Given the description of an element on the screen output the (x, y) to click on. 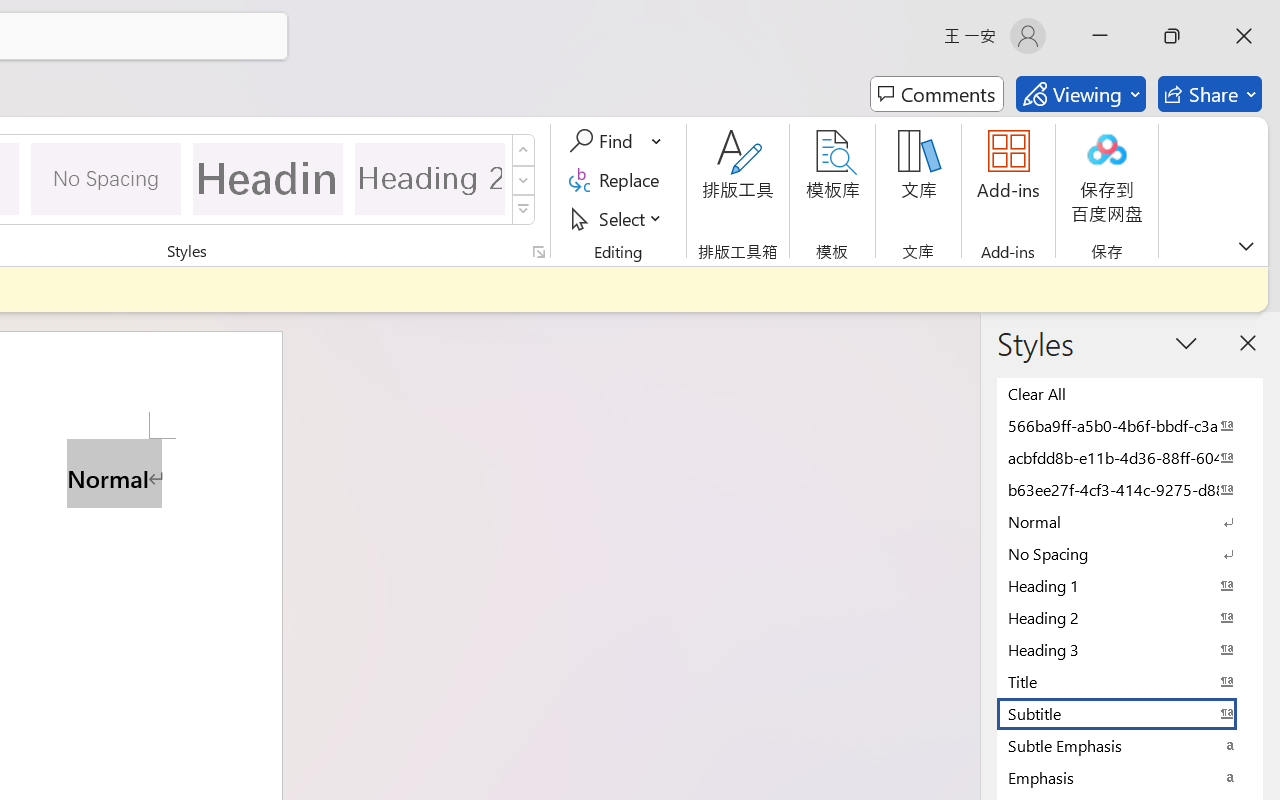
Emphasis (1130, 777)
